Given the description of an element on the screen output the (x, y) to click on. 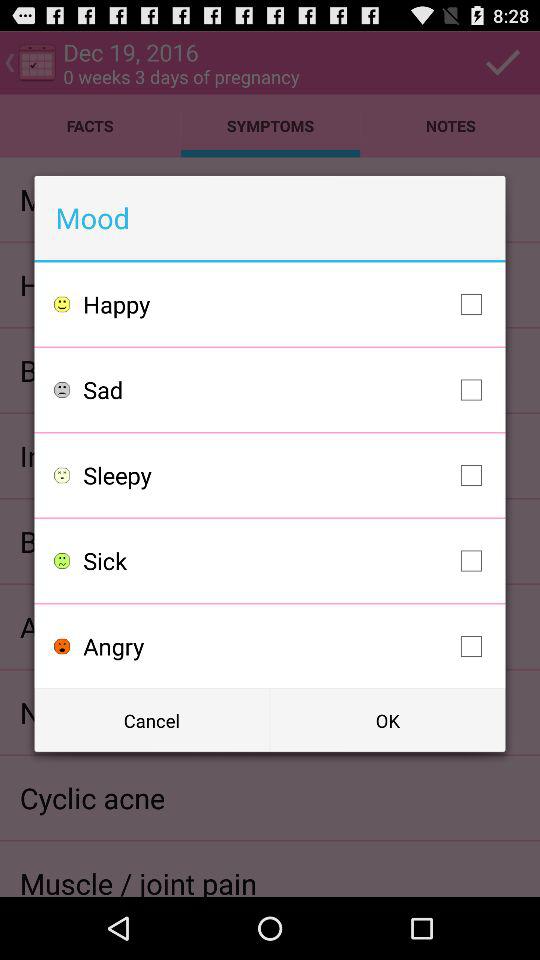
open checkbox above the sleepy checkbox (287, 389)
